Given the description of an element on the screen output the (x, y) to click on. 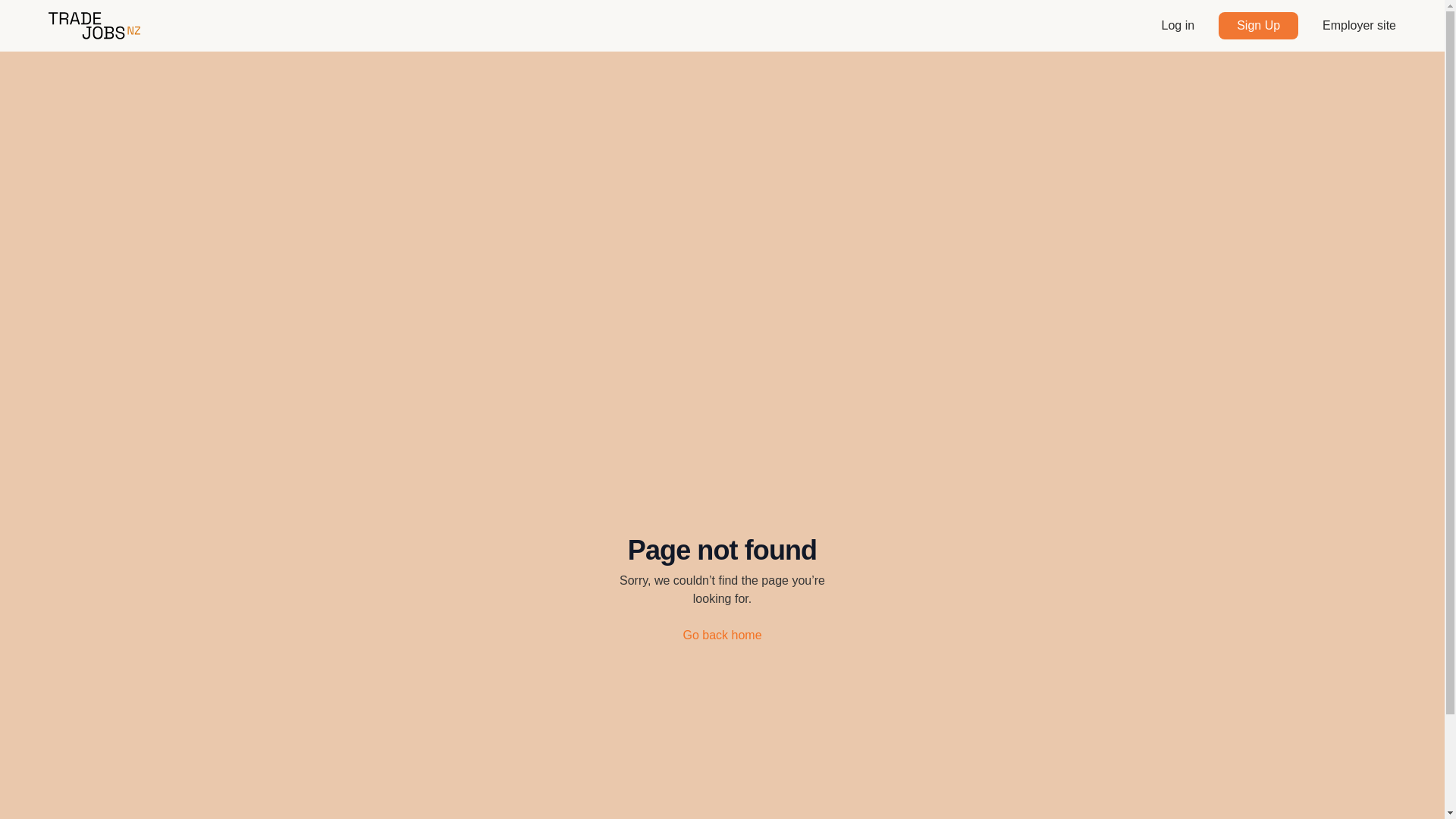
Sign Up (1258, 25)
Home Page (94, 25)
Employer site (1359, 25)
Go back home (721, 634)
Log in (1178, 25)
